Given the description of an element on the screen output the (x, y) to click on. 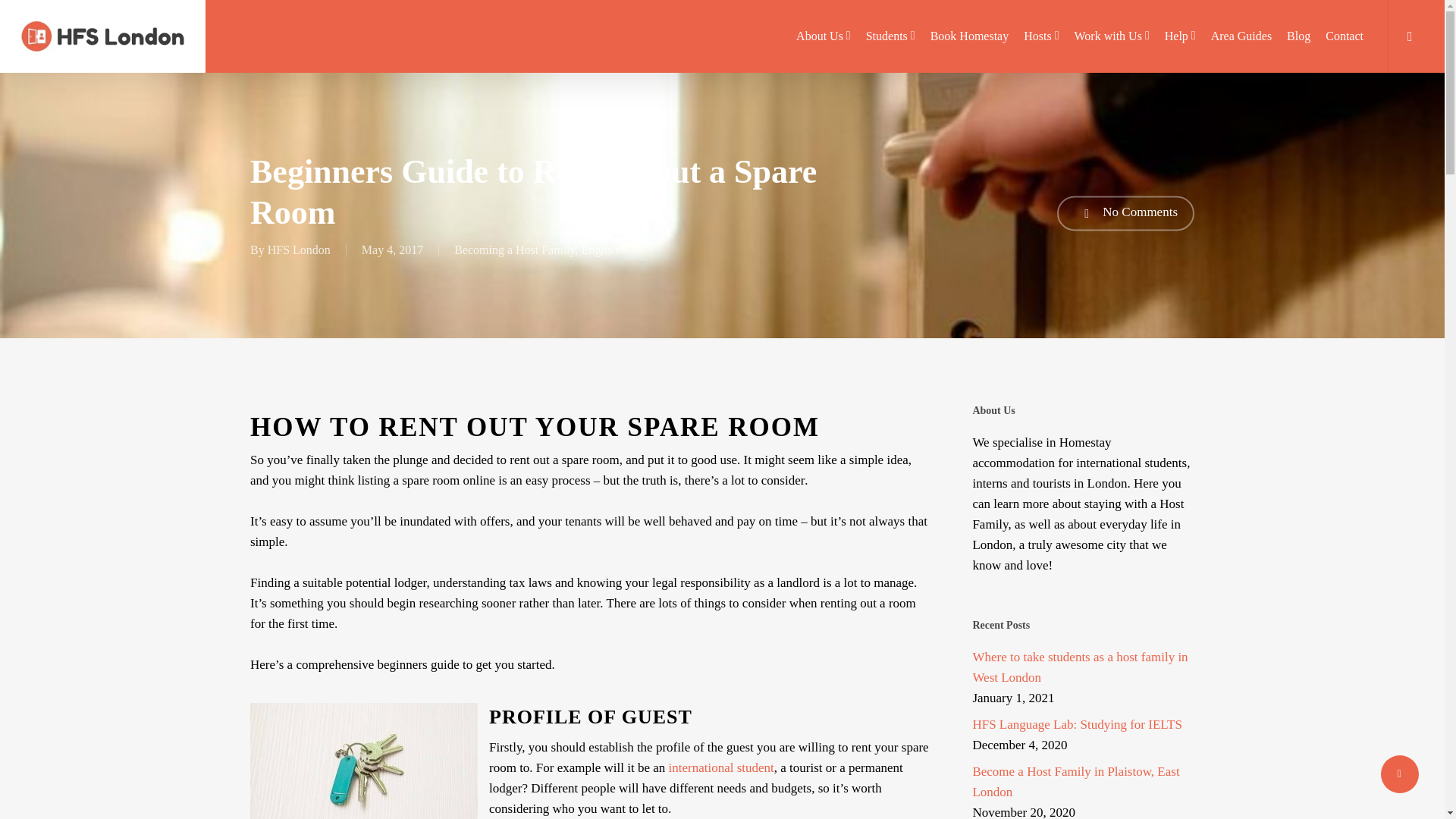
No Comments (1125, 212)
Students (891, 35)
About Us (824, 35)
English (599, 248)
Book Homestay (969, 35)
Hosts (1040, 35)
HFS London (298, 248)
Contact (1344, 35)
Area Guides (1241, 35)
Help (1180, 35)
Blog (1298, 35)
Posts by HFS London (298, 248)
Work with Us (1112, 35)
Becoming a Host Family (514, 248)
international student (721, 767)
